Given the description of an element on the screen output the (x, y) to click on. 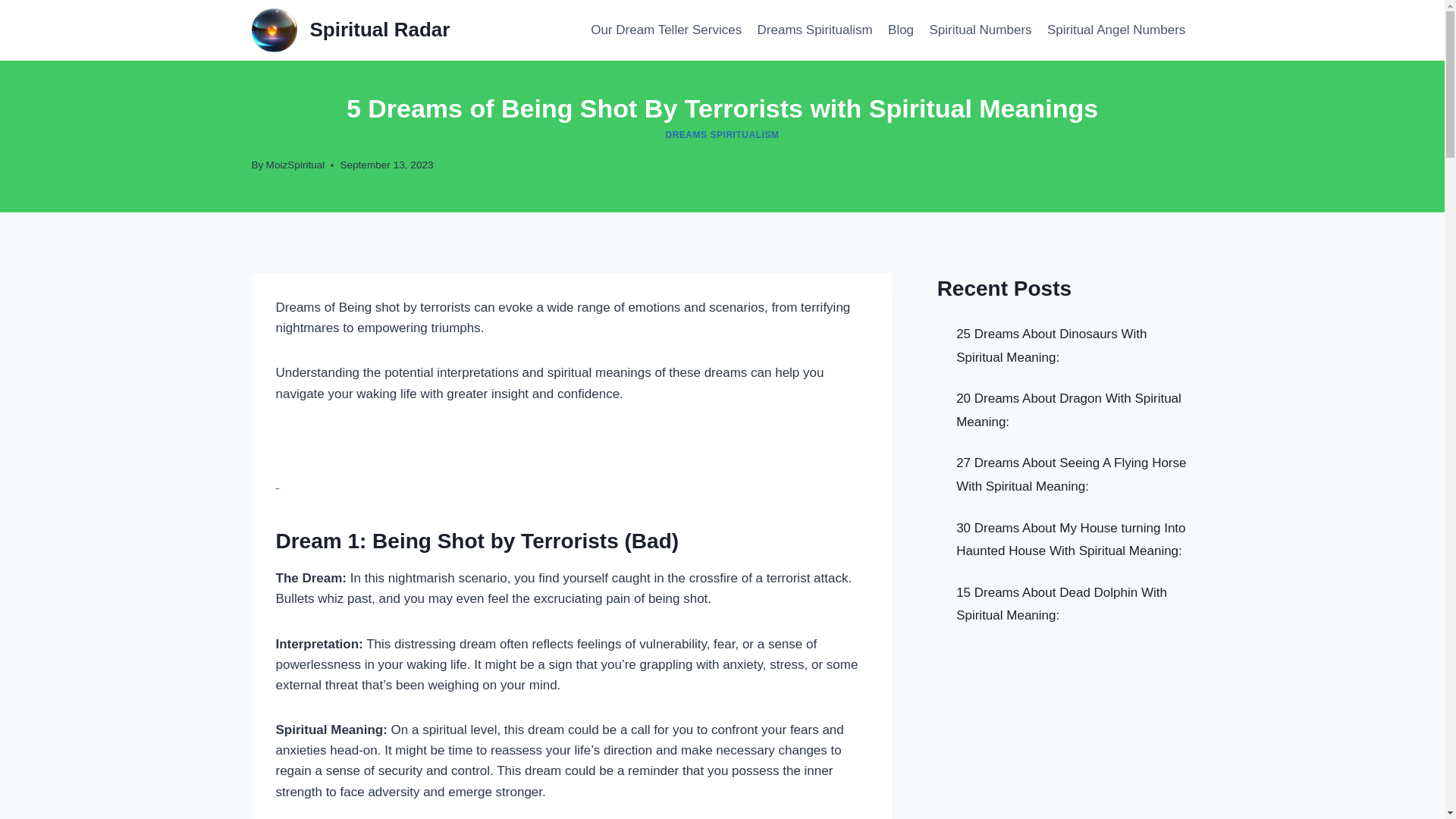
Spiritual Radar (350, 30)
Spiritual Angel Numbers (1116, 30)
DREAMS SPIRITUALISM (721, 134)
Our Dream Teller Services (666, 30)
Spiritual Numbers (980, 30)
Blog (900, 30)
MoizSpiritual (295, 164)
Dreams Spiritualism (814, 30)
